Given the description of an element on the screen output the (x, y) to click on. 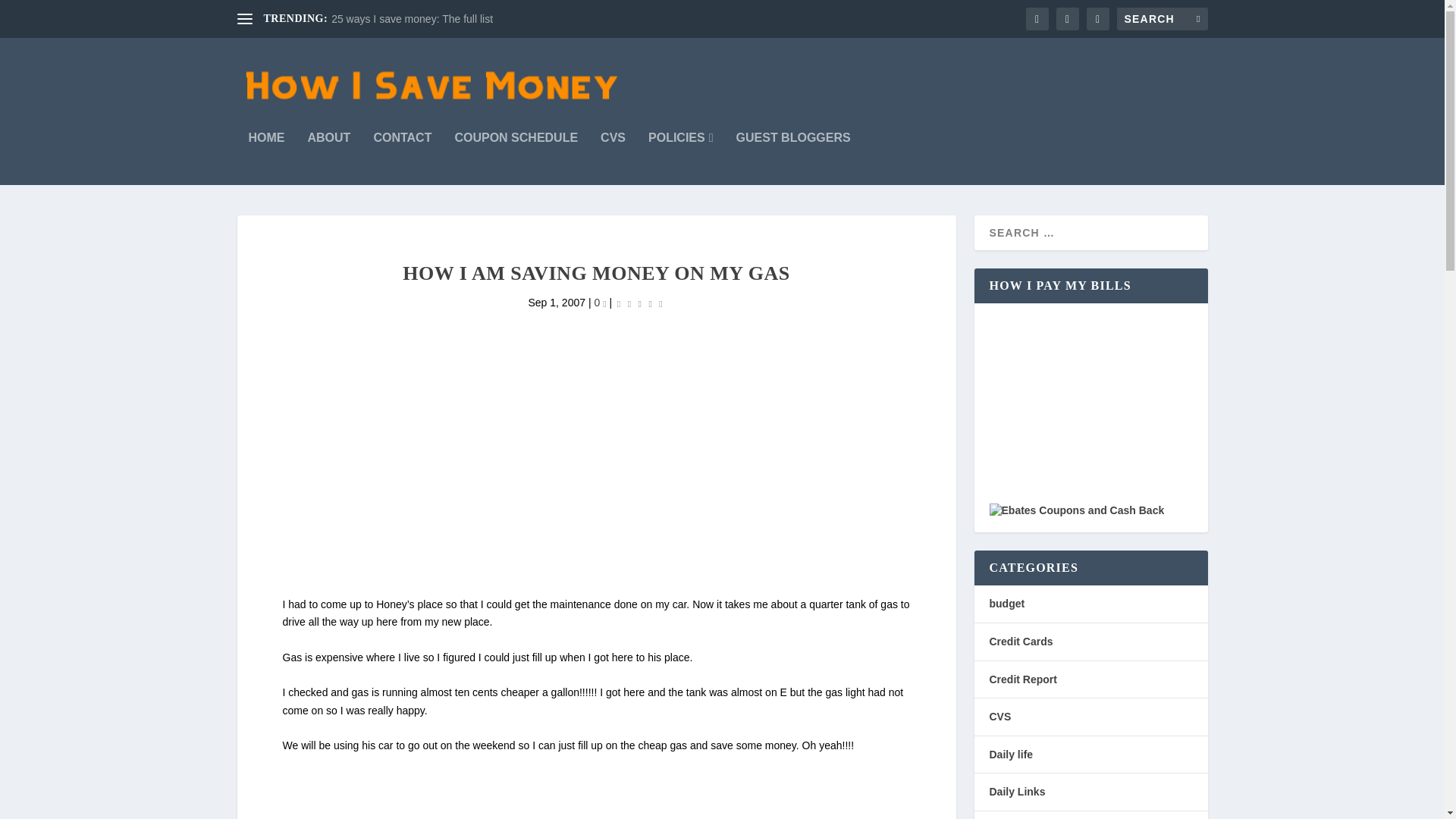
Advertisement (596, 787)
Search for: (1161, 18)
POLICIES (680, 158)
GUEST BLOGGERS (793, 158)
Advertisement (598, 487)
CONTACT (401, 158)
COUPON SCHEDULE (516, 158)
0 (599, 302)
25 ways I save money: The full list (412, 19)
Rating: 0.00 (639, 303)
